Given the description of an element on the screen output the (x, y) to click on. 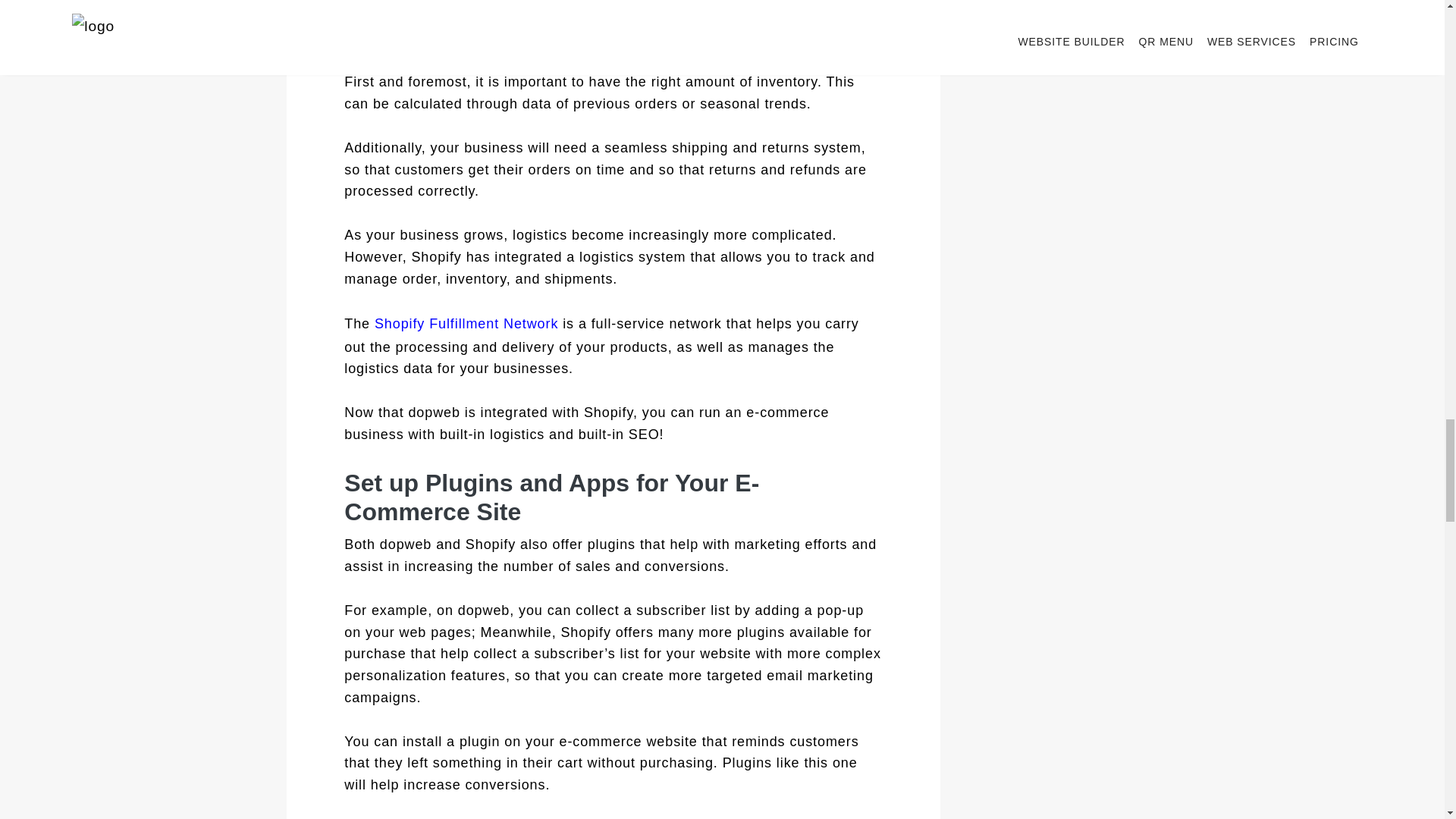
Shopify Fulfillment Network (468, 323)
